Given the description of an element on the screen output the (x, y) to click on. 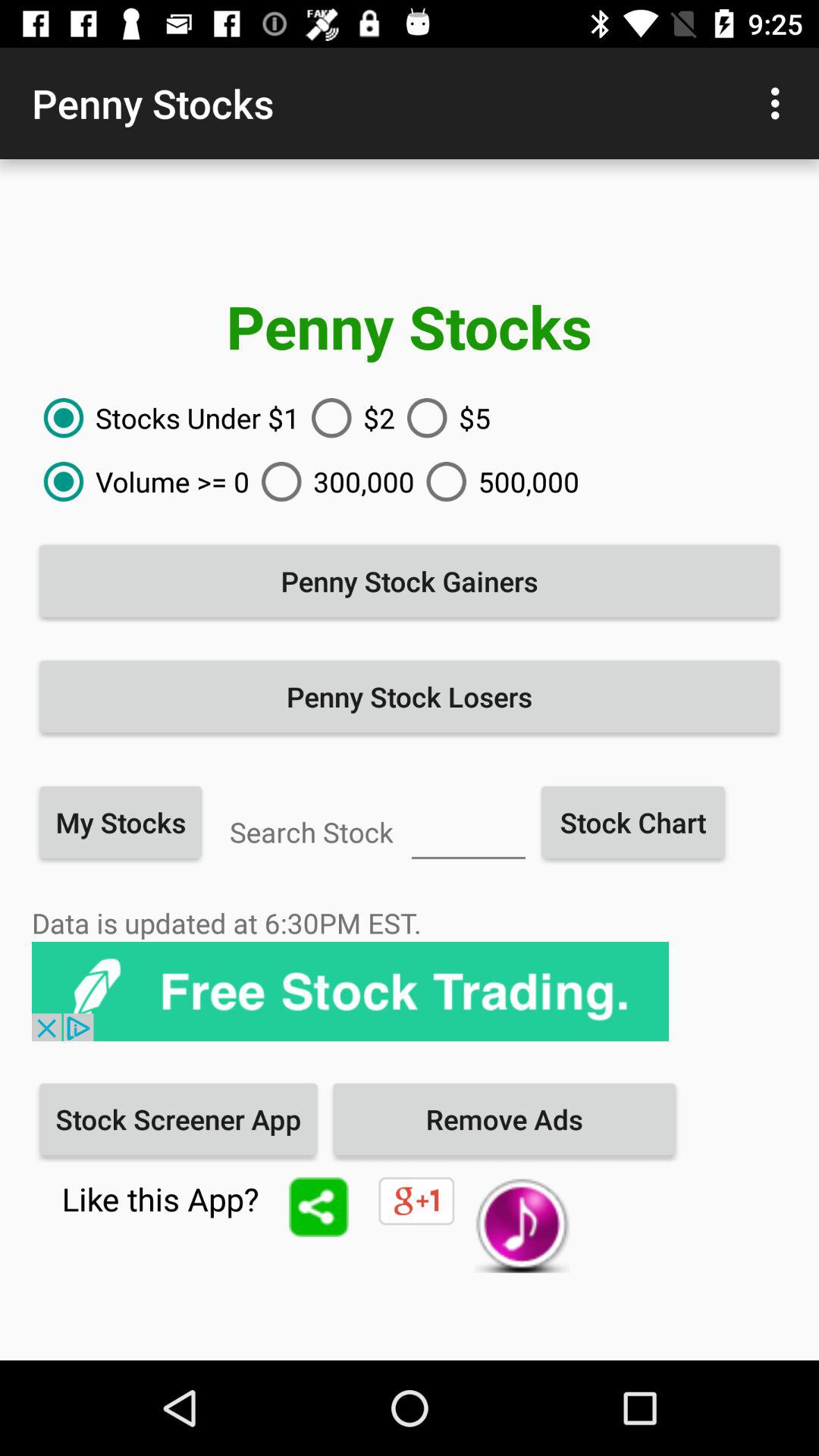
open item below the penny stock losers (120, 822)
